Given the description of an element on the screen output the (x, y) to click on. 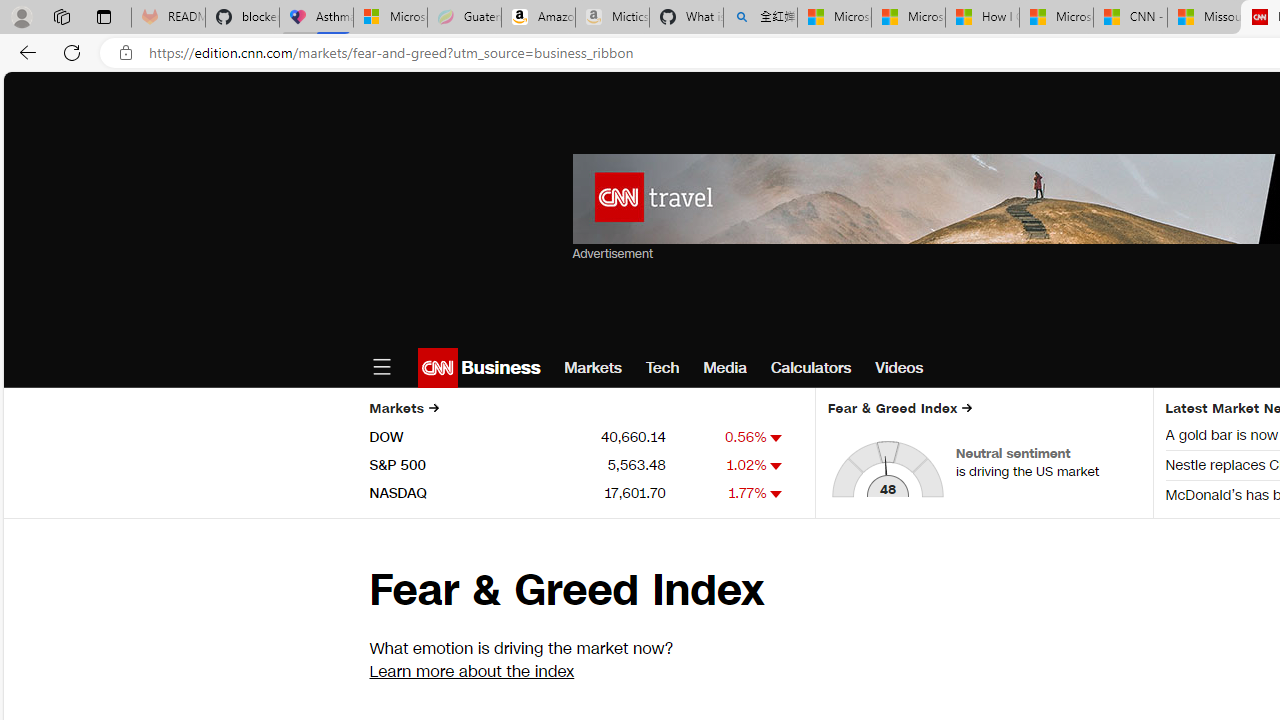
Class: right-arrow (967, 408)
CNN logo (437, 367)
Videos (899, 367)
Fear & Greed Index - Investor Sentiment  (888, 467)
Open Menu Icon (381, 367)
Tech (662, 367)
